Given the description of an element on the screen output the (x, y) to click on. 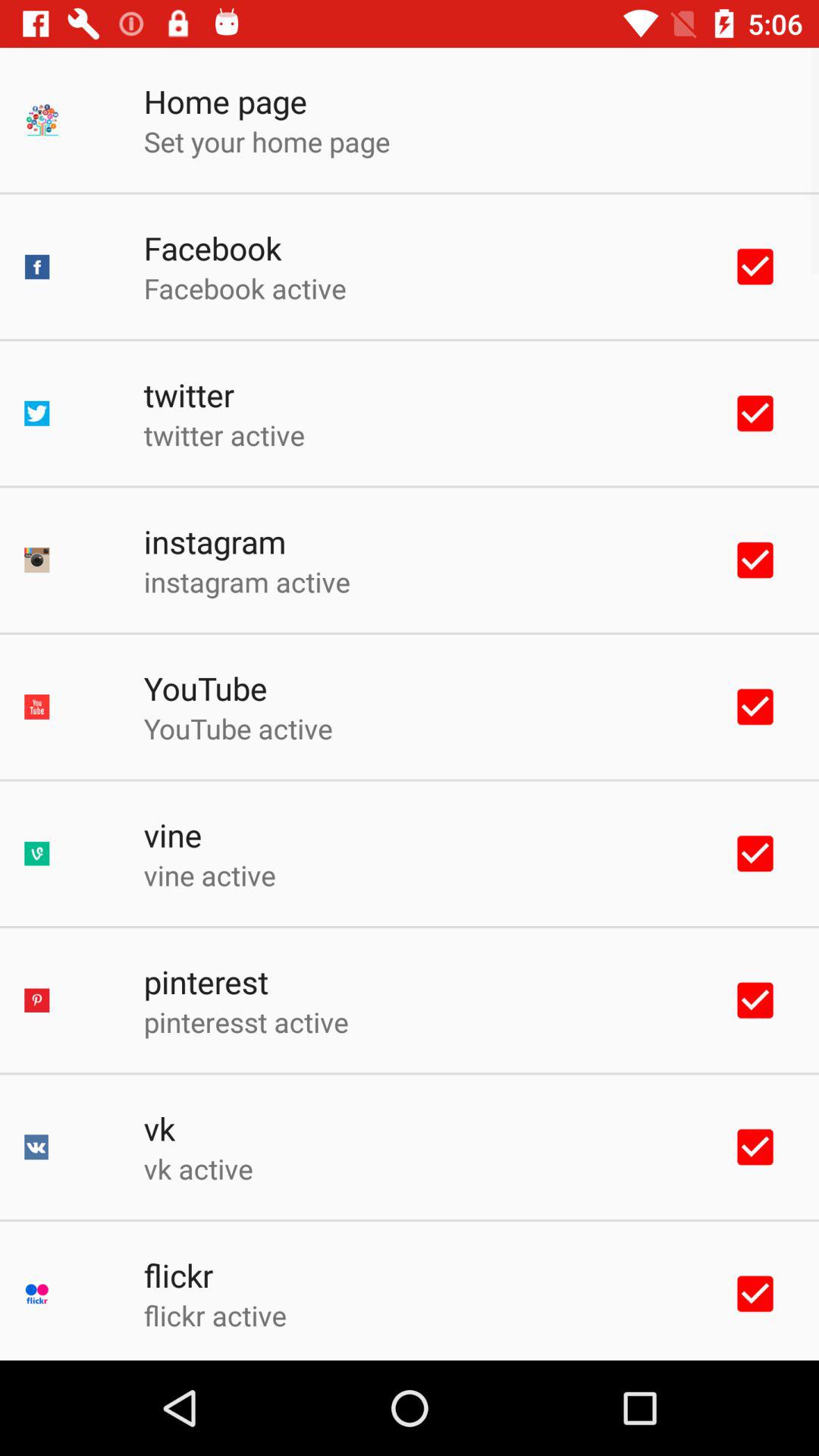
launch app below the facebook item (244, 288)
